Given the description of an element on the screen output the (x, y) to click on. 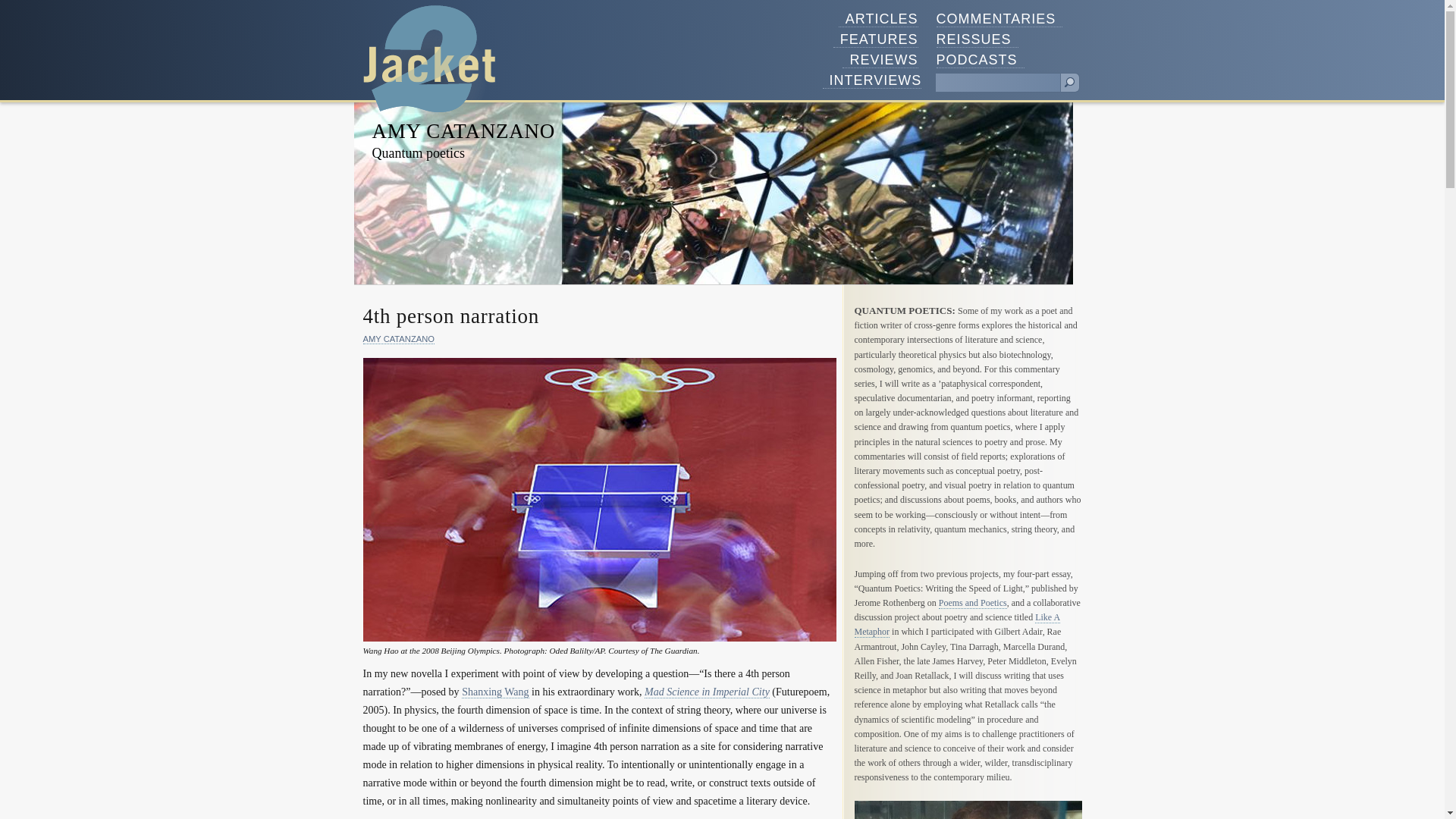
INTERVIEWS (871, 80)
Features (875, 39)
FEATURES (875, 39)
Poems and Poetics (973, 603)
Jacket2 (429, 58)
Podcasts (979, 59)
COMMENTARIES (999, 19)
Interviews (871, 80)
Reissues (976, 39)
Articles (878, 19)
ARTICLES (878, 19)
AMY CATANZANO (462, 130)
Home (429, 58)
Search (1068, 82)
Enter the terms you wish to search for. (997, 82)
